Given the description of an element on the screen output the (x, y) to click on. 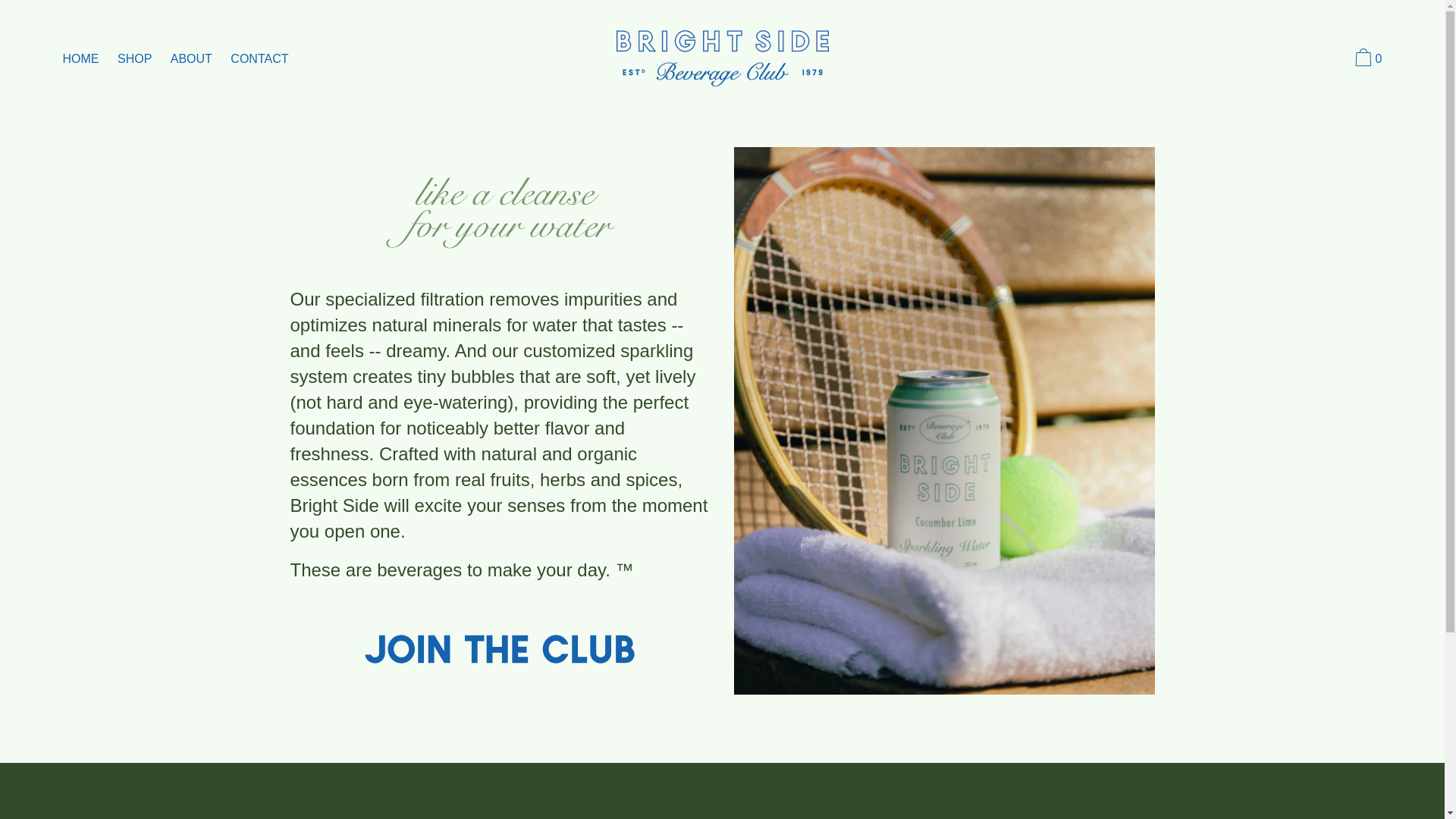
Shop (715, 817)
Wholesale (773, 817)
CONTACT (258, 59)
Home (670, 817)
HOME (80, 59)
Contact (837, 817)
0 (1366, 59)
SHOP (134, 59)
ABOUT (191, 59)
